Given the description of an element on the screen output the (x, y) to click on. 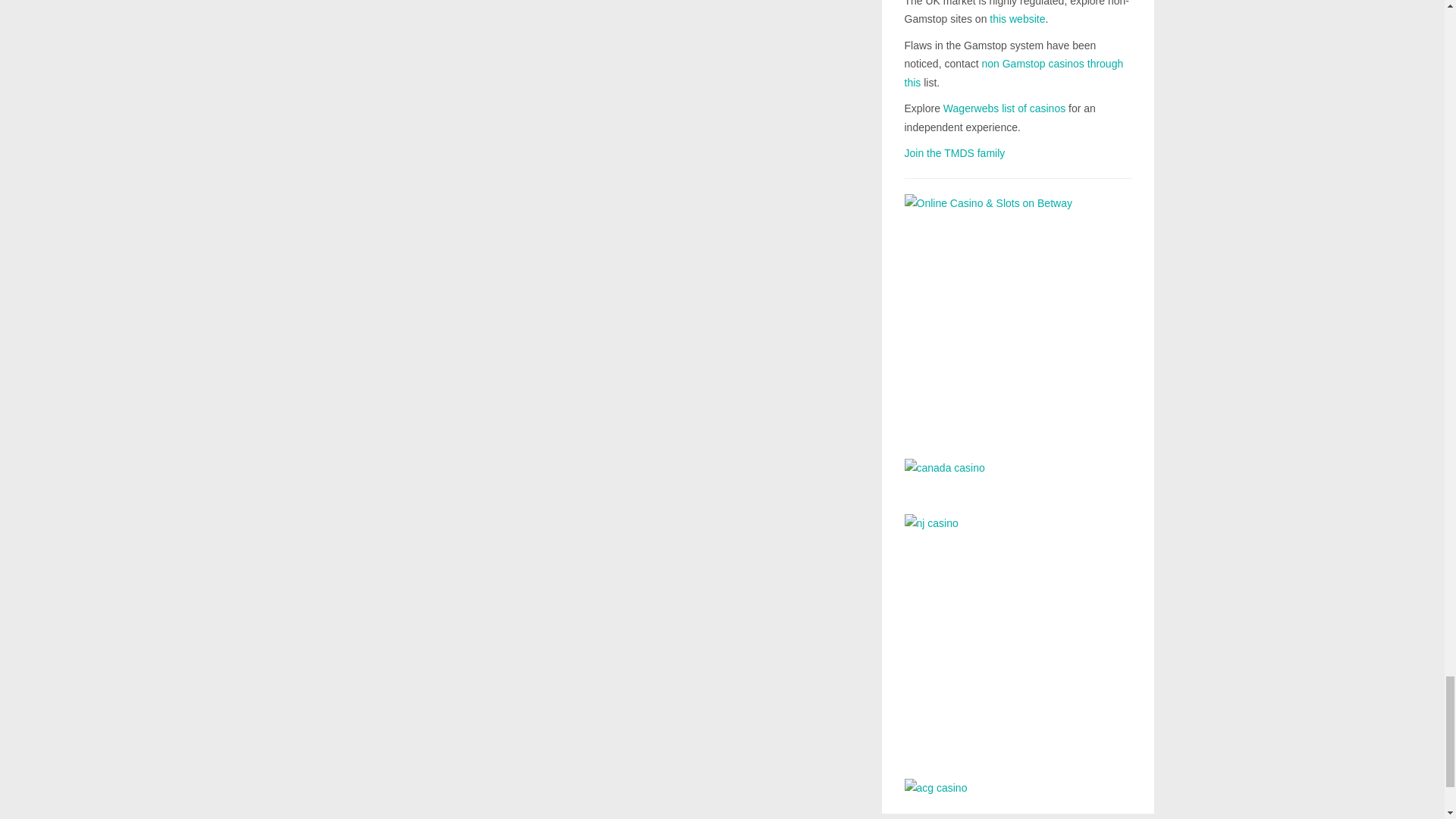
canada casino (1017, 475)
acg casino (1017, 787)
nj casino (1017, 635)
